Given the description of an element on the screen output the (x, y) to click on. 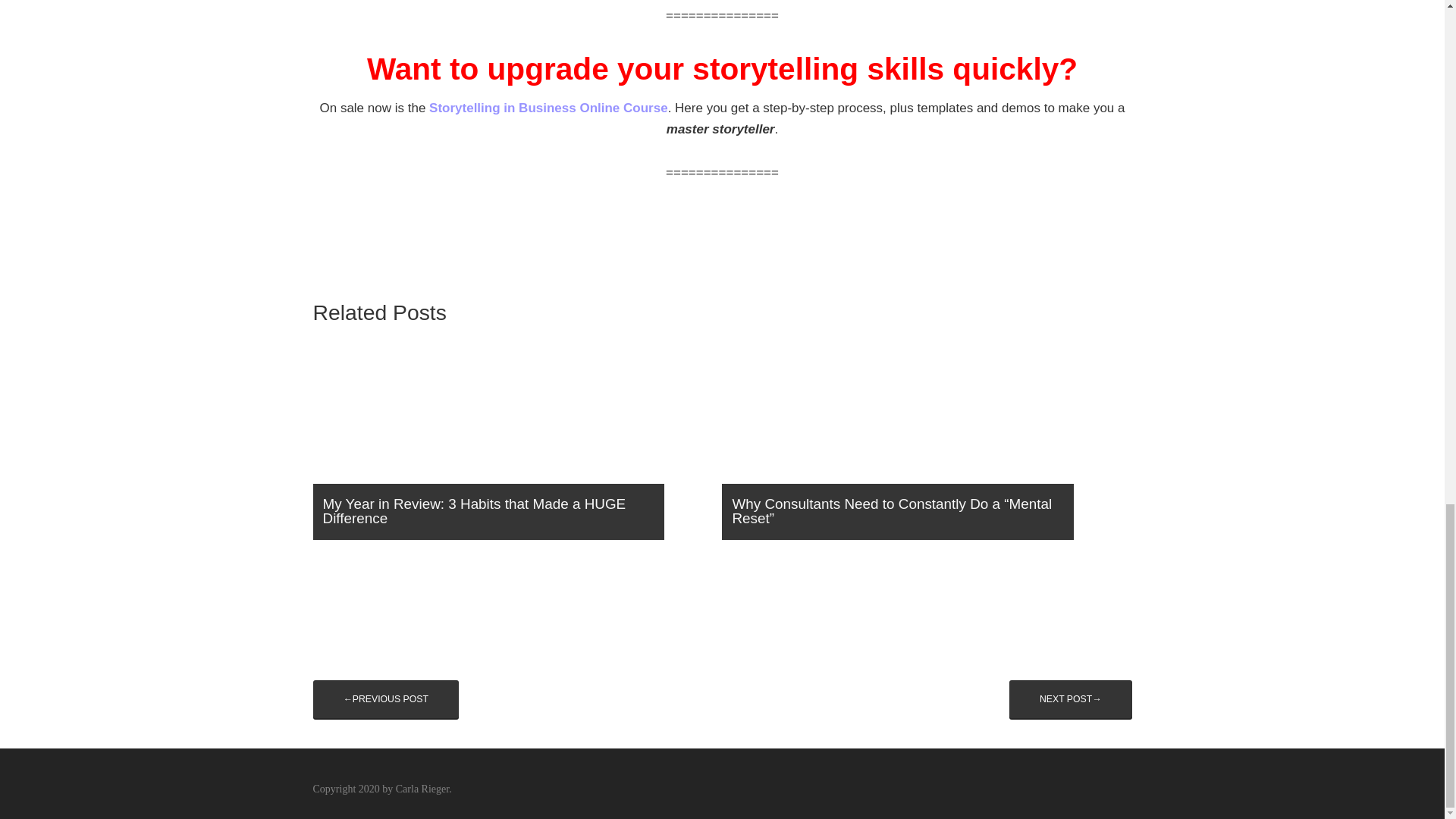
My Year in Review: 3 Habits that Made a HUGE Difference (508, 445)
Storytelling in Business Online Course (548, 107)
